Given the description of an element on the screen output the (x, y) to click on. 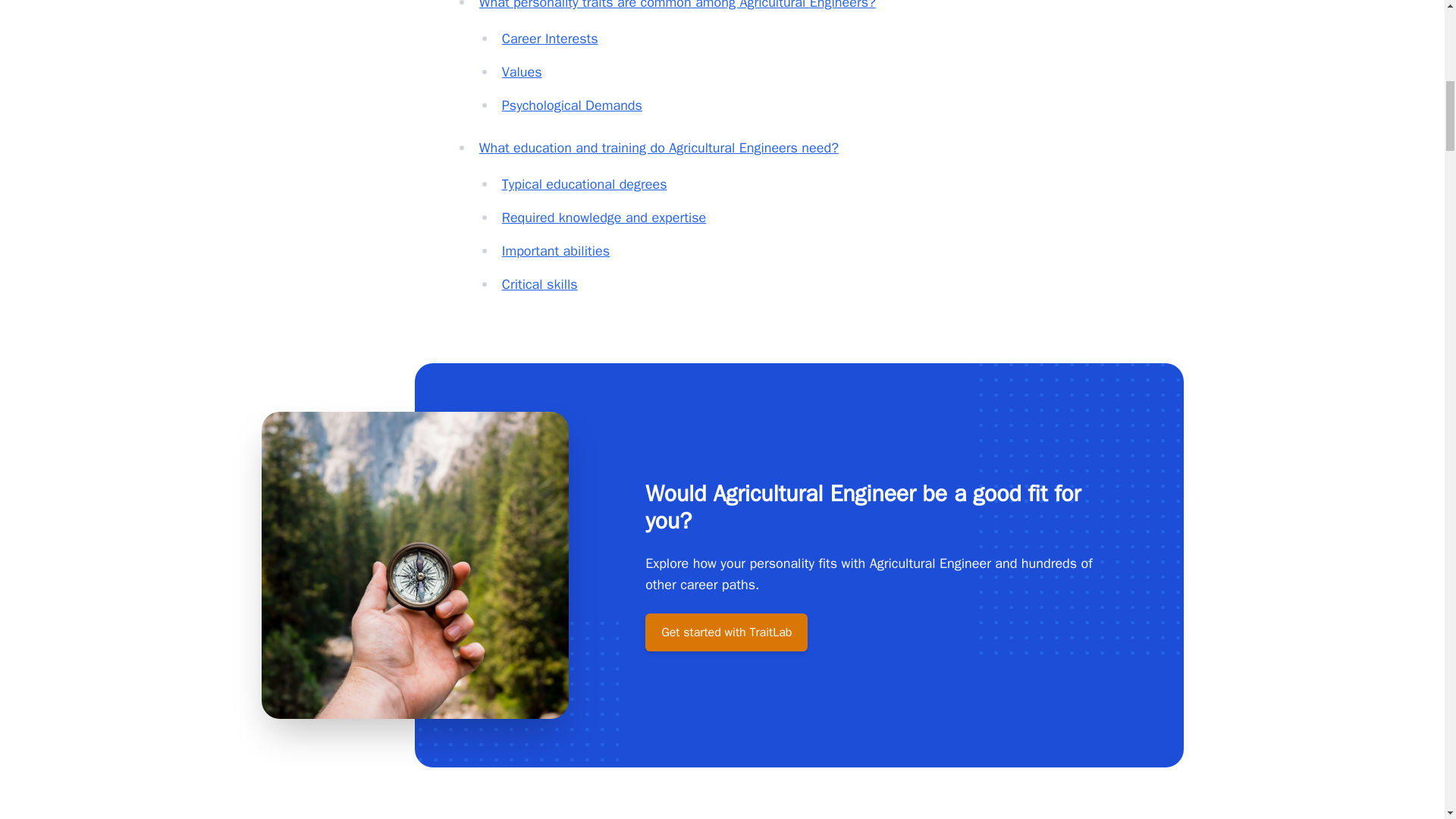
Values (521, 71)
Important abilities (556, 250)
Get started with TraitLab (726, 632)
Typical educational degrees (584, 184)
Career Interests (550, 38)
What education and training do Agricultural Engineers need? (658, 147)
Psychological Demands (572, 105)
Required knowledge and expertise (604, 217)
Critical skills (540, 284)
